Given the description of an element on the screen output the (x, y) to click on. 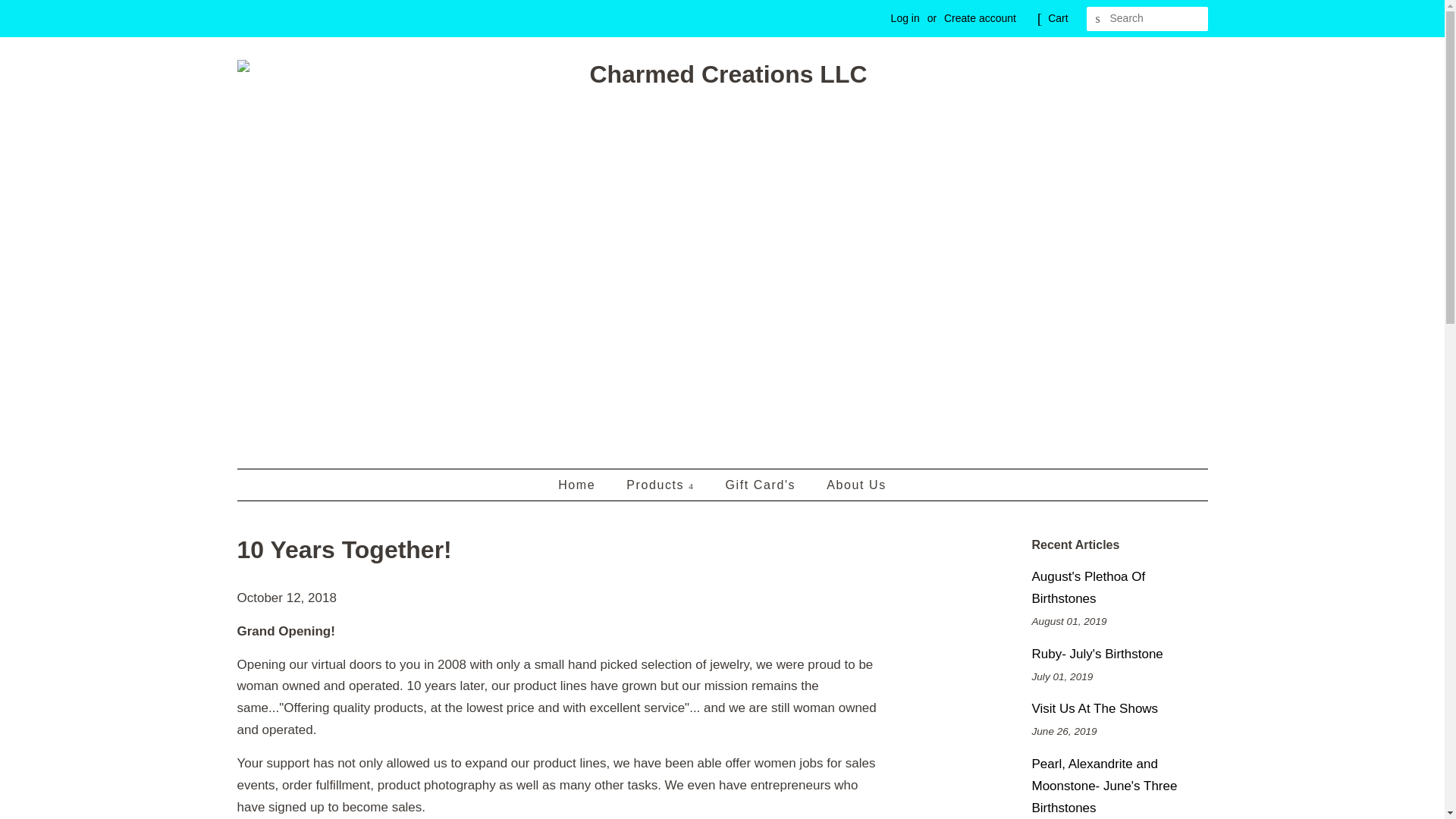
Create account (979, 18)
Log in (905, 18)
Cart (1057, 18)
Search (1097, 18)
